Given the description of an element on the screen output the (x, y) to click on. 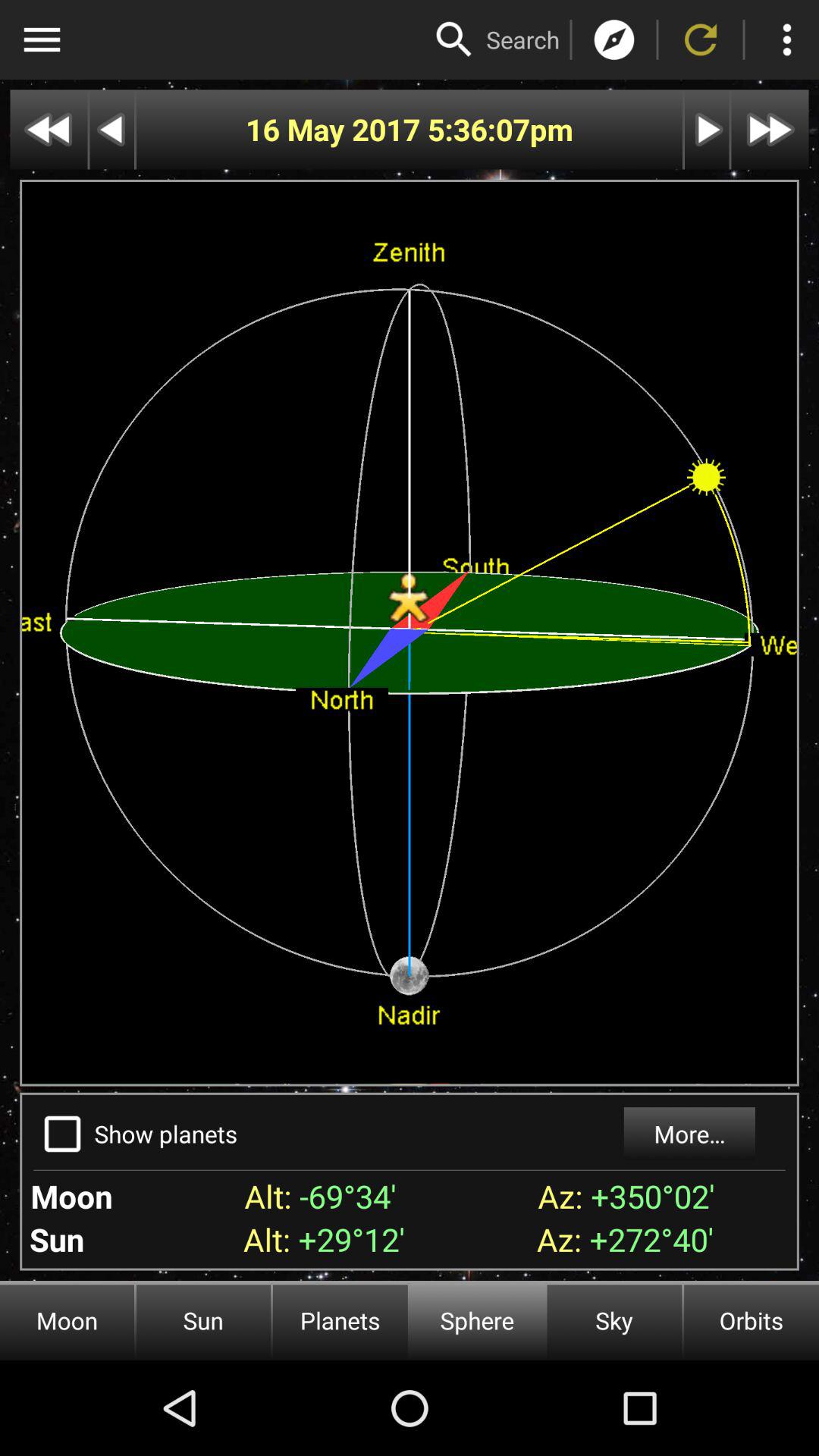
open the item to the right of the 16 may 2017 (478, 129)
